Given the description of an element on the screen output the (x, y) to click on. 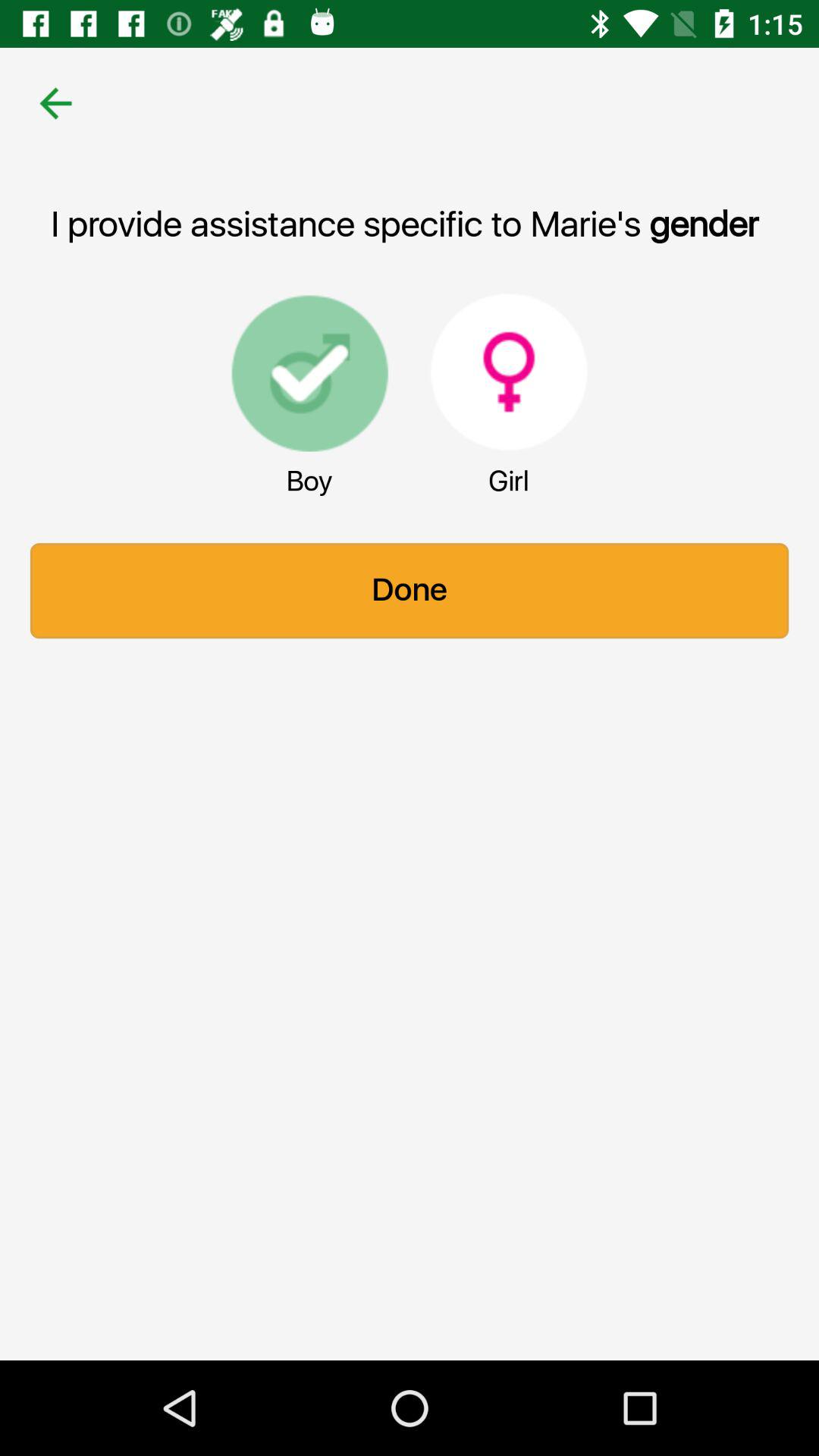
choose the girl option (508, 371)
